Given the description of an element on the screen output the (x, y) to click on. 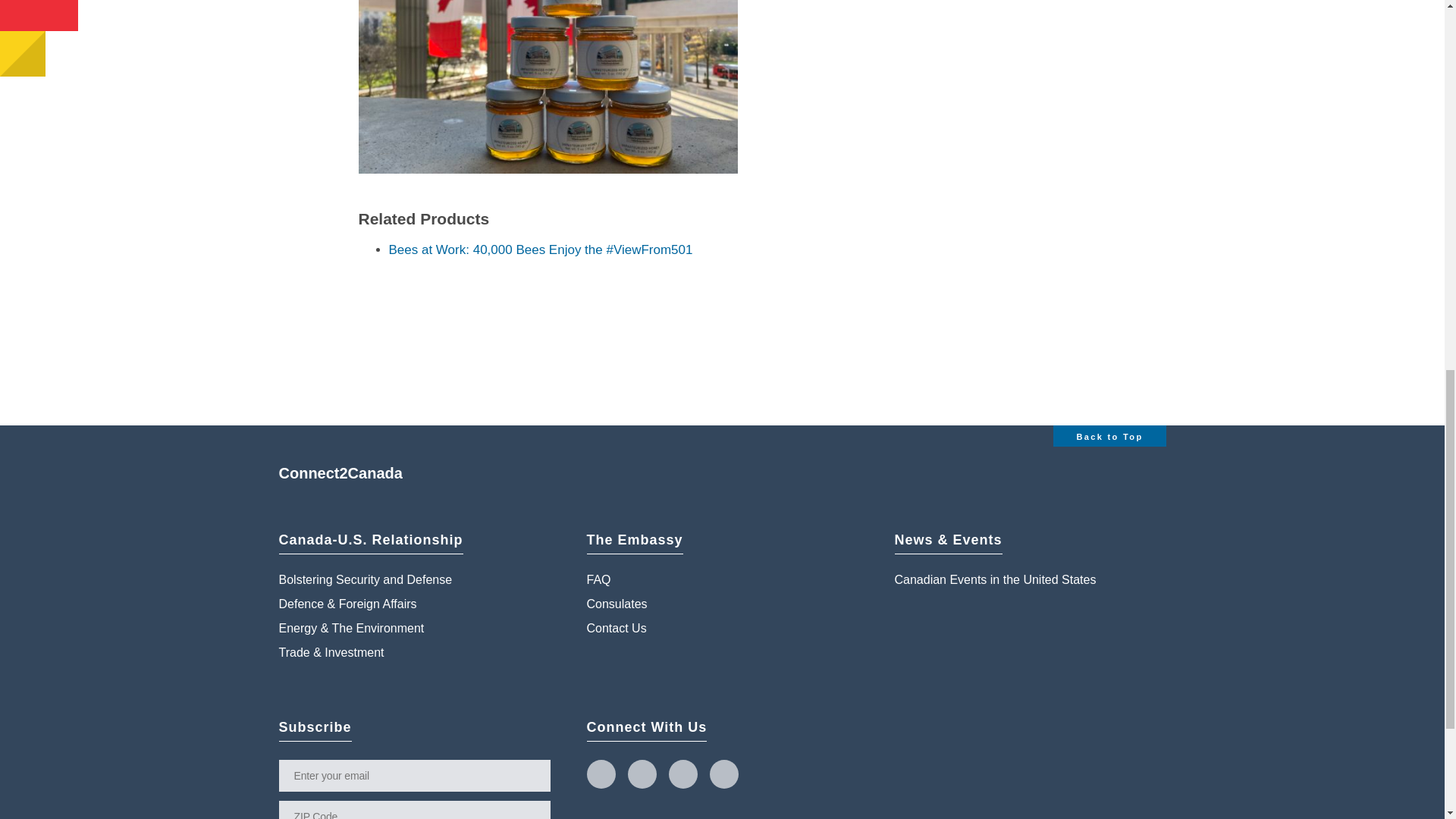
Follow us on Instagram (682, 774)
Follow us on Flickr (724, 774)
Follow us on Twitter (600, 774)
Follow us on Facebook (641, 774)
